Given the description of an element on the screen output the (x, y) to click on. 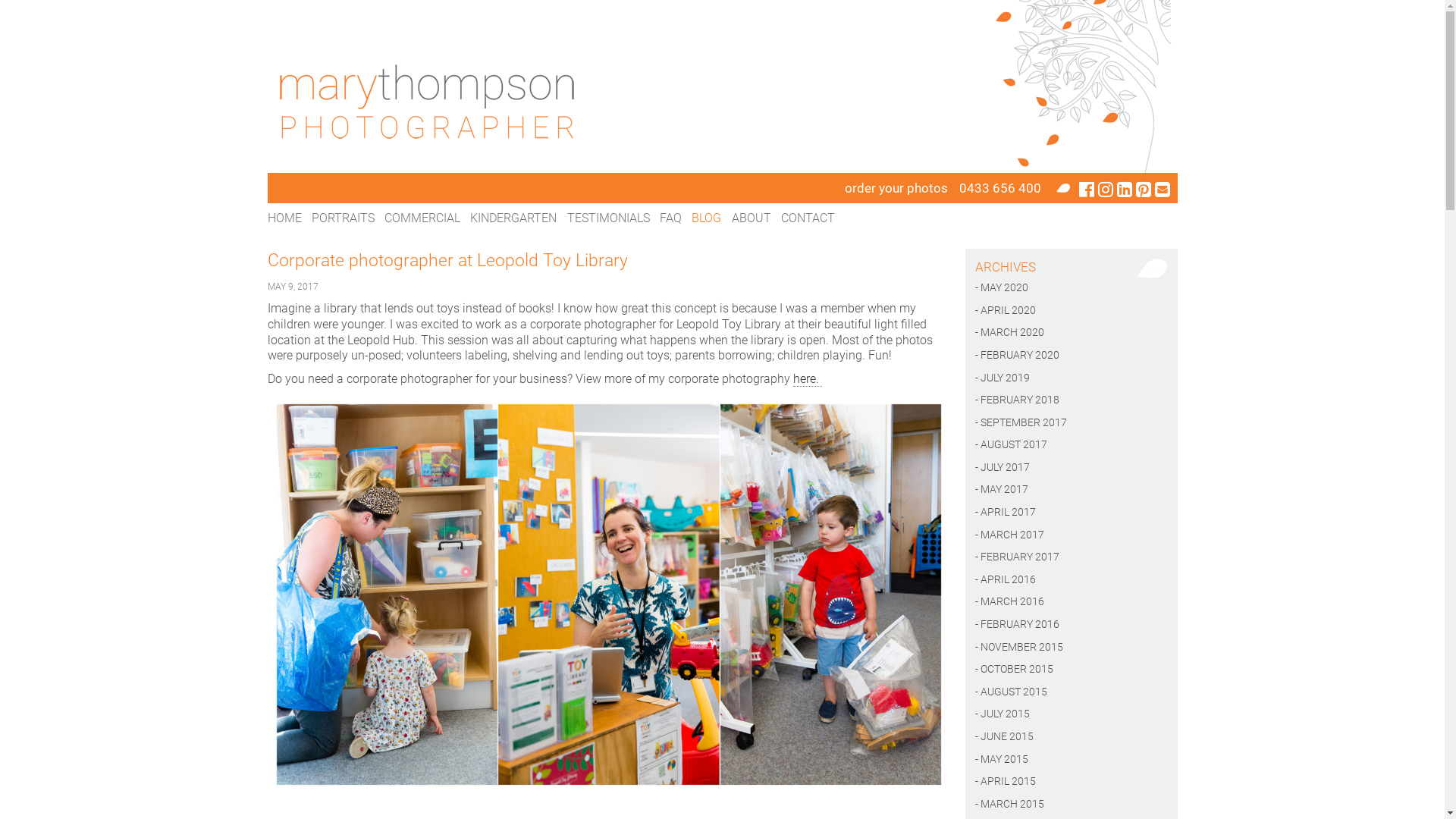
MARCH 2020 Element type: text (1071, 332)
here.  Element type: text (807, 378)
APRIL 2016 Element type: text (1071, 579)
MARCH 2015 Element type: text (1071, 804)
FAQ Element type: text (670, 218)
OCTOBER 2015 Element type: text (1071, 669)
KINDERGARTEN Element type: text (513, 218)
HOME Element type: text (283, 218)
FEBRUARY 2017 Element type: text (1071, 557)
FEBRUARY 2020 Element type: text (1071, 355)
CONTACT Element type: text (807, 218)
FEBRUARY 2018 Element type: text (1071, 400)
SEPTEMBER 2017 Element type: text (1071, 422)
MAY 2020 Element type: text (1071, 287)
APRIL 2015 Element type: text (1071, 781)
NOVEMBER 2015 Element type: text (1071, 647)
order your photos Element type: text (895, 187)
MAY 2017 Element type: text (1071, 489)
JULY 2019 Element type: text (1071, 378)
APRIL 2020 Element type: text (1071, 310)
PORTRAITS Element type: text (342, 218)
FEBRUARY 2016 Element type: text (1071, 624)
MARCH 2017 Element type: text (1071, 535)
COMMERCIAL Element type: text (422, 218)
AUGUST 2017 Element type: text (1071, 444)
APRIL 2017 Element type: text (1071, 512)
ABOUT Element type: text (751, 218)
BLOG Element type: text (706, 218)
MARCH 2016 Element type: text (1071, 601)
AUGUST 2015 Element type: text (1071, 691)
MAY 2015 Element type: text (1071, 759)
JULY 2017 Element type: text (1071, 467)
JUNE 2015 Element type: text (1071, 736)
JULY 2015 Element type: text (1071, 713)
TESTIMONIALS Element type: text (608, 218)
